Given the description of an element on the screen output the (x, y) to click on. 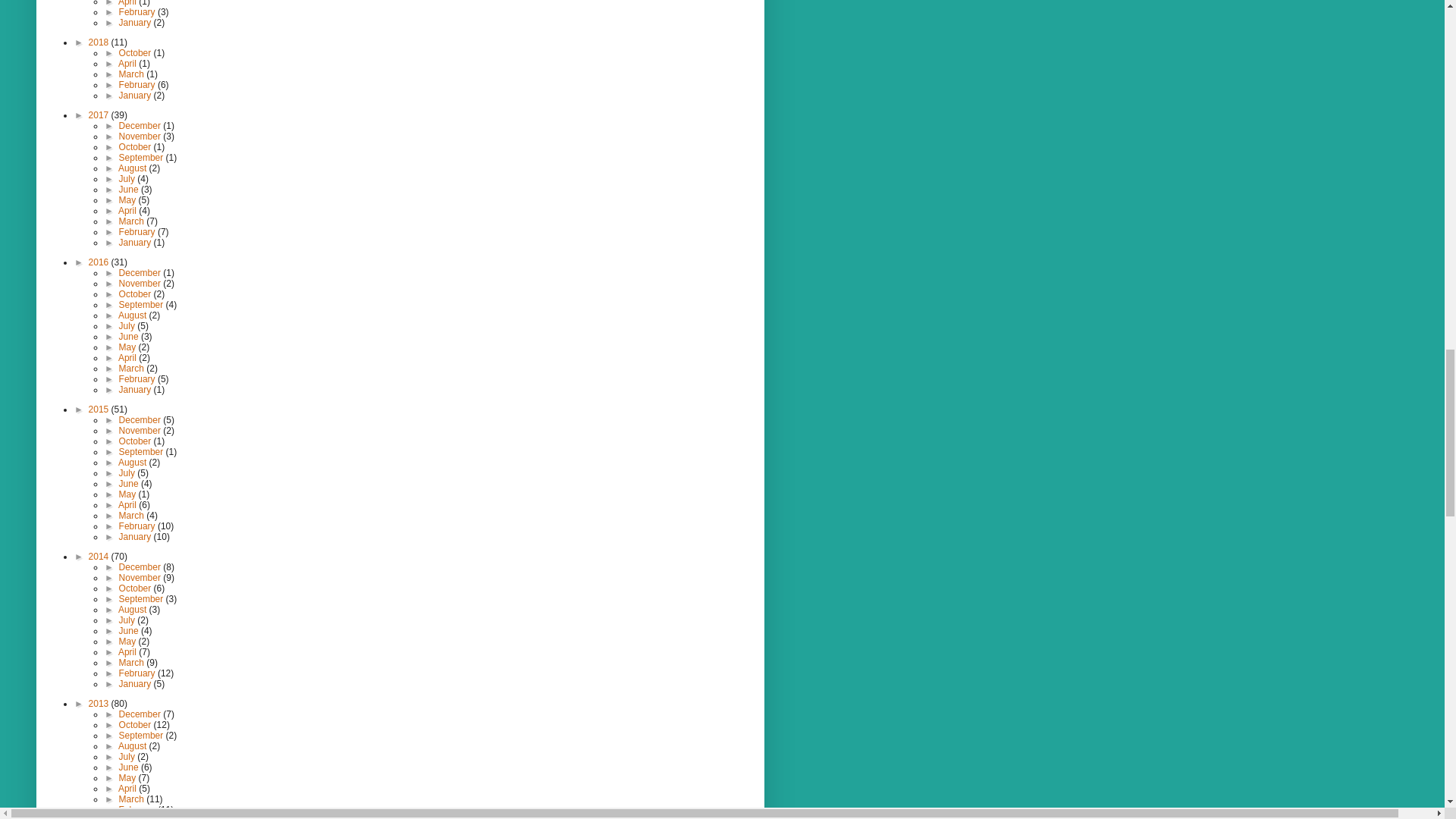
October (136, 52)
April (127, 3)
January (136, 22)
2018 (100, 41)
February (138, 11)
